Given the description of an element on the screen output the (x, y) to click on. 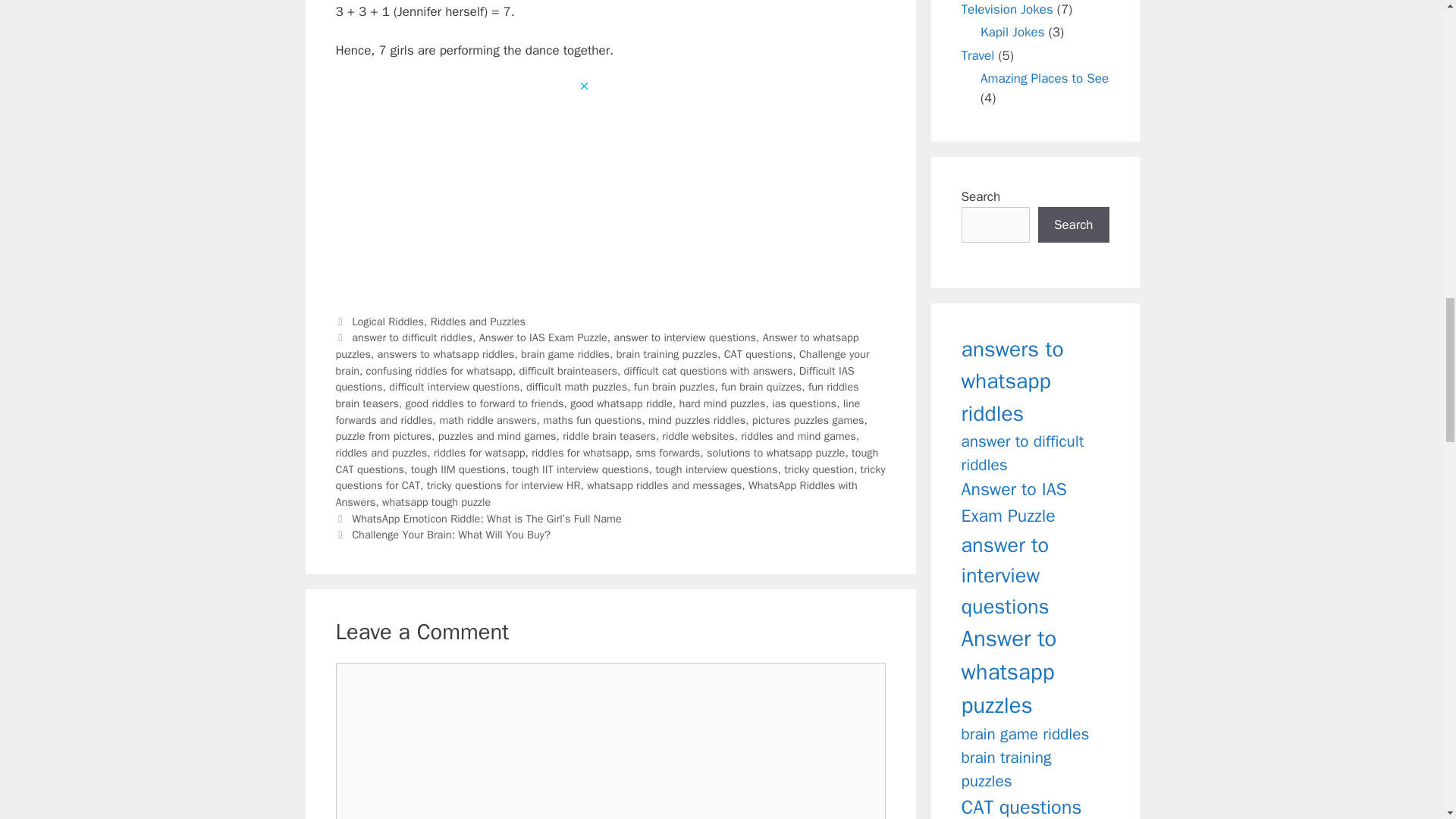
Answer to whatsapp puzzles (596, 345)
answer to difficult riddles (411, 336)
brain game riddles (565, 354)
difficult brainteasers (566, 370)
brain training puzzles (666, 354)
answers to whatsapp riddles (446, 354)
confusing riddles for whatsapp (439, 370)
Riddles and Puzzles (477, 321)
3rd party ad content (461, 185)
Challenge your brain (601, 362)
